Given the description of an element on the screen output the (x, y) to click on. 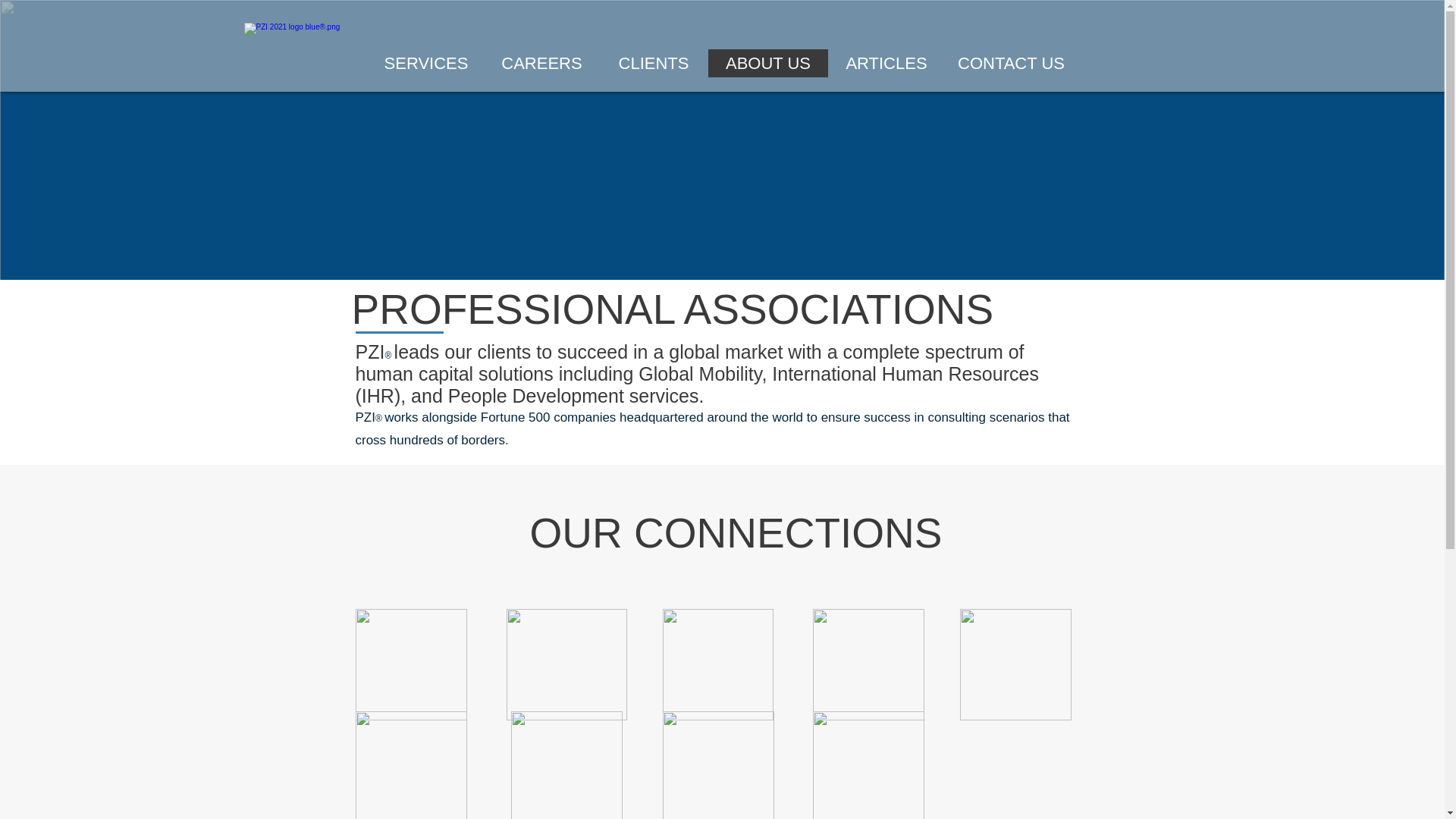
SBA  (410, 664)
CONTACT US (1010, 62)
Celia Alliance (566, 664)
AICPA (868, 765)
CAREERS (540, 62)
ABOUT US (767, 62)
SHRM (1015, 664)
ARTICLES (886, 62)
CGMA (718, 765)
CLIENTS (652, 62)
